Given the description of an element on the screen output the (x, y) to click on. 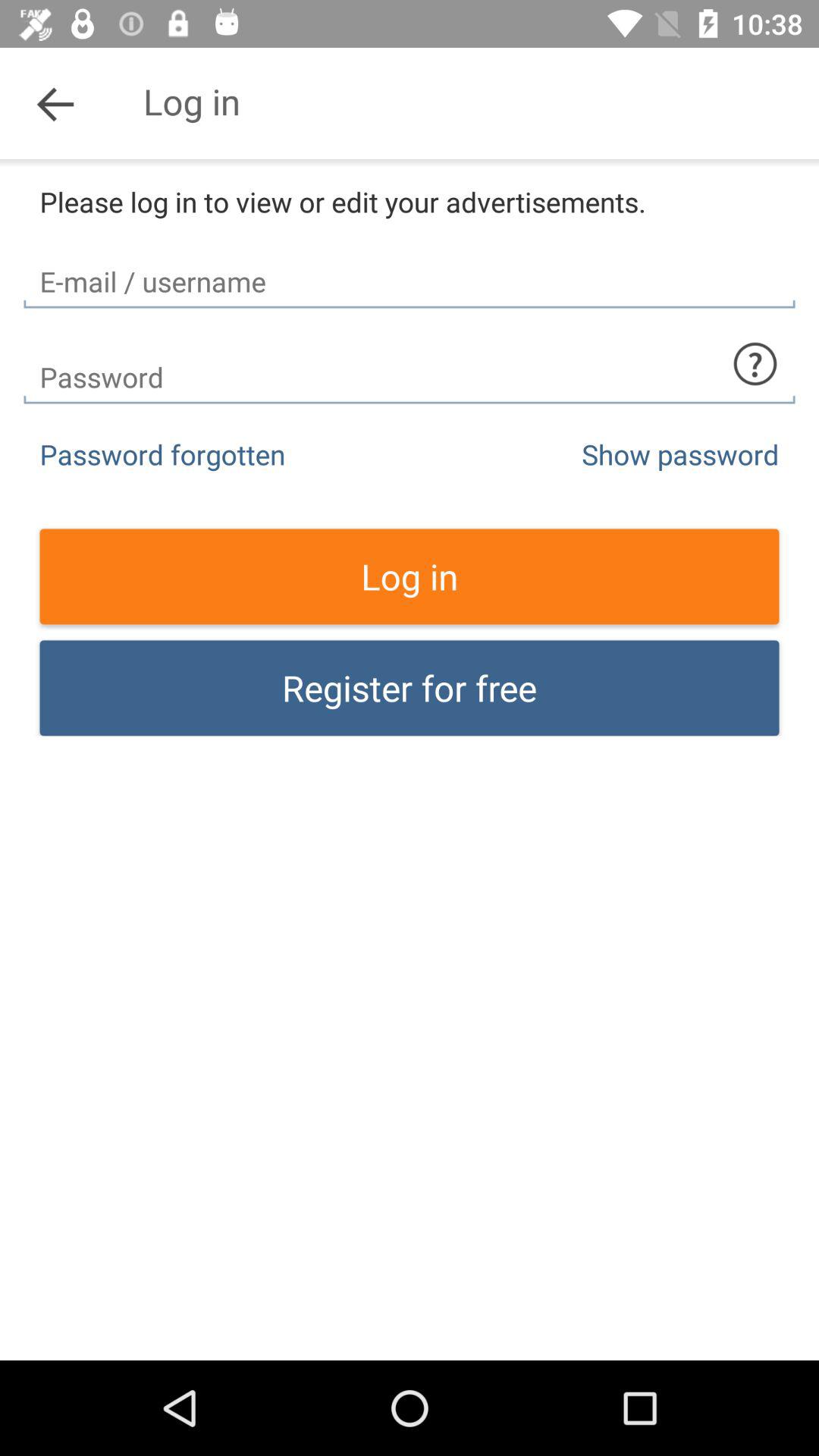
add email or username (409, 268)
